Given the description of an element on the screen output the (x, y) to click on. 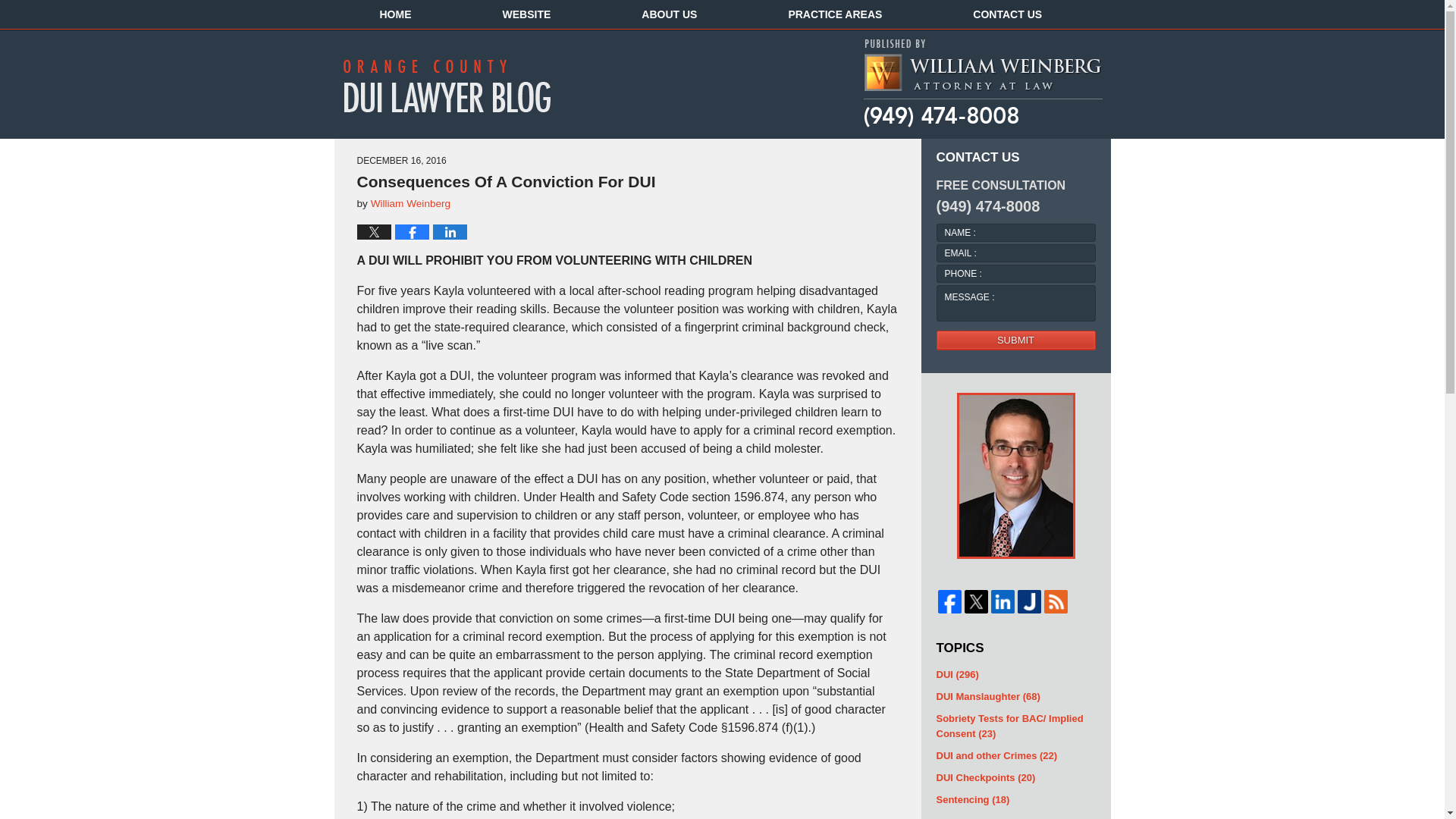
Feed (1055, 601)
Twitter (976, 601)
LinkedIn (1001, 601)
Facebook (949, 601)
Please enter a valid phone number. (1015, 272)
William Weinberg (411, 203)
CONTACT US (1007, 14)
ABOUT US (668, 14)
PRACTICE AREAS (834, 14)
Orange County DUI Lawyer Blog (456, 85)
WEBSITE (526, 14)
SUBMIT (1015, 340)
Published By William Weinberg (982, 82)
HOME (395, 14)
Justia (1029, 601)
